Given the description of an element on the screen output the (x, y) to click on. 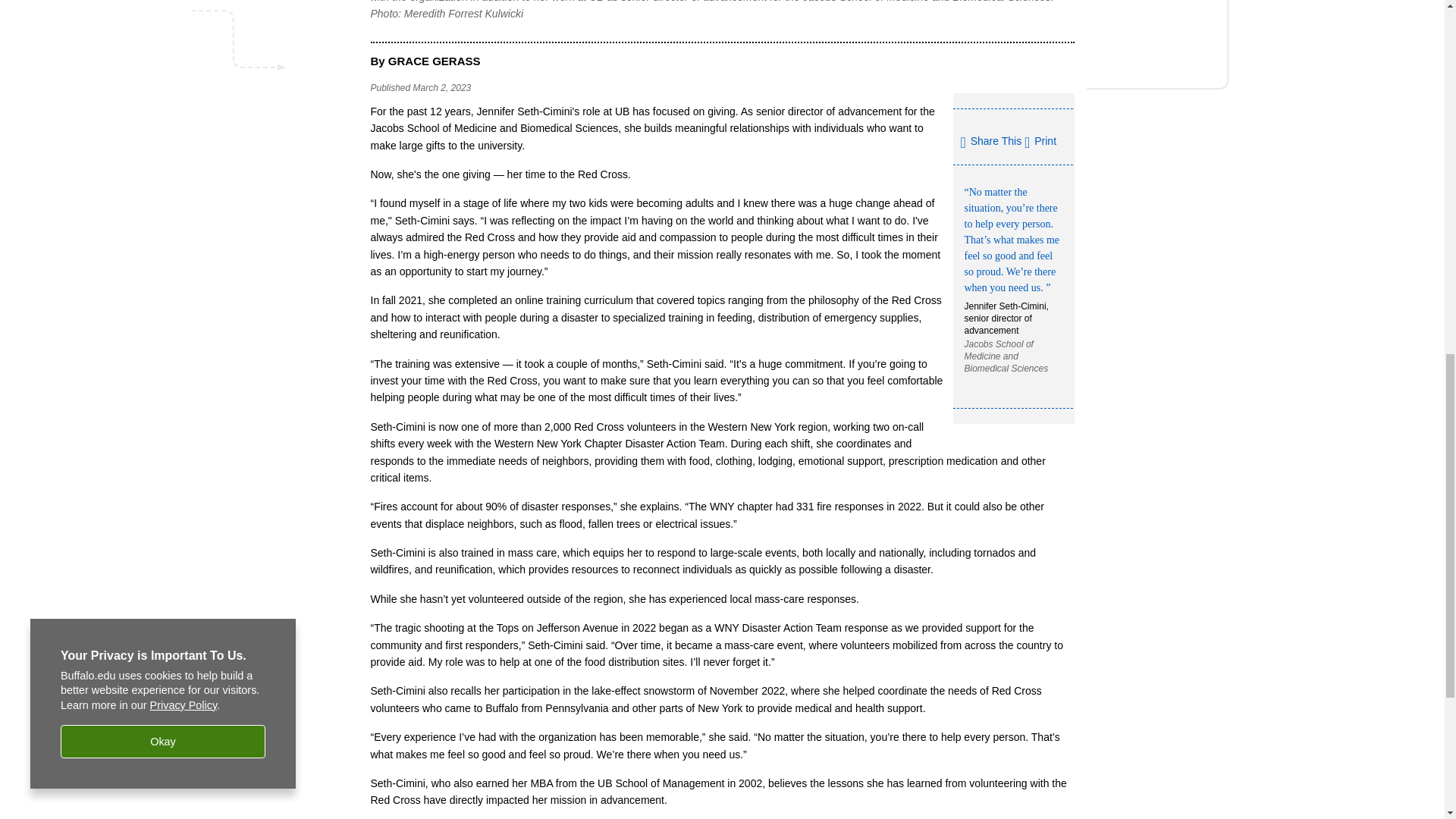
Print (1041, 141)
Share This (990, 142)
